Given the description of an element on the screen output the (x, y) to click on. 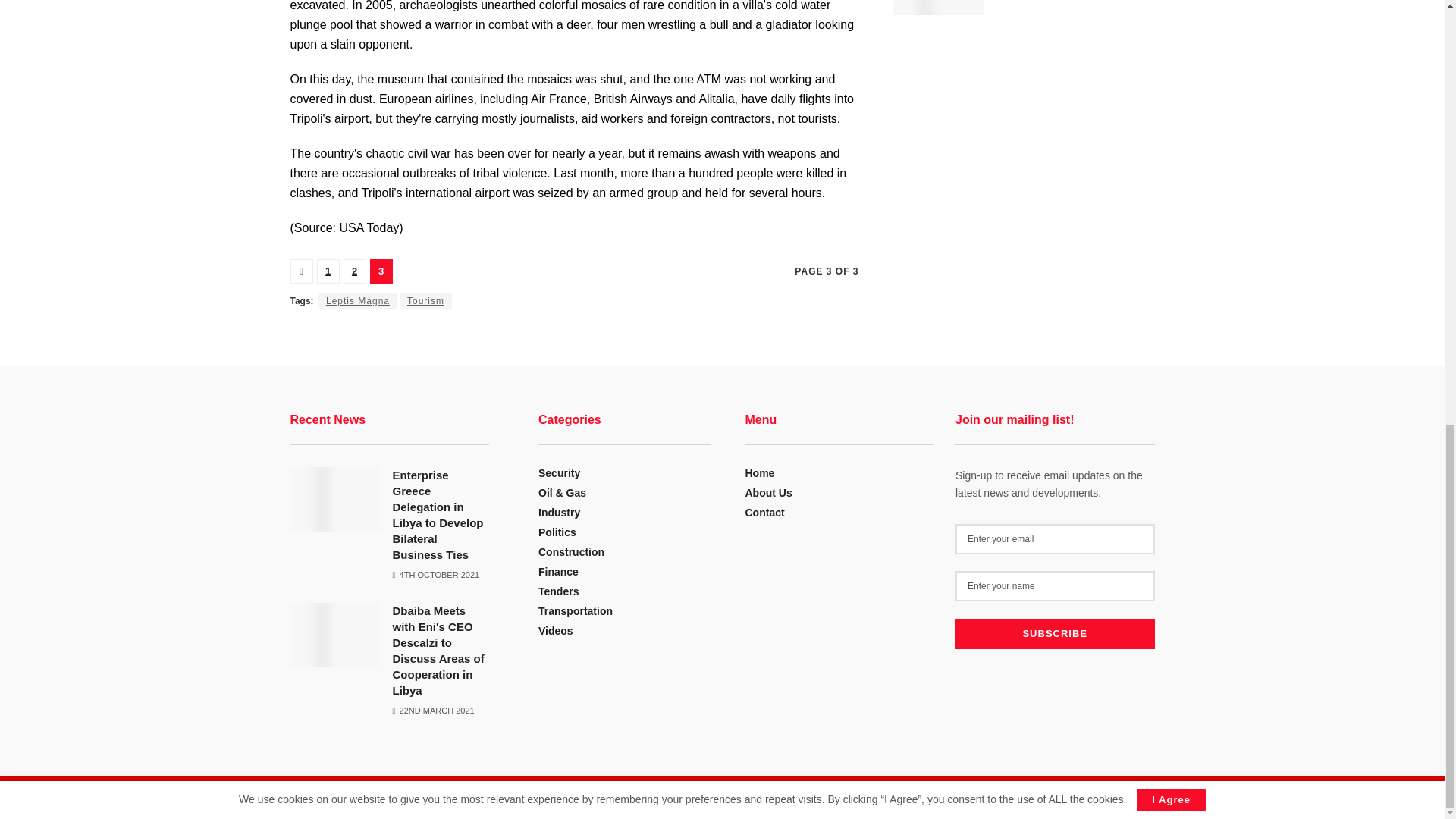
1 (328, 271)
Subscribe (1054, 634)
Enter your name (1054, 585)
2 (353, 271)
Enter your email (1054, 539)
Libya Business News (384, 799)
